Given the description of an element on the screen output the (x, y) to click on. 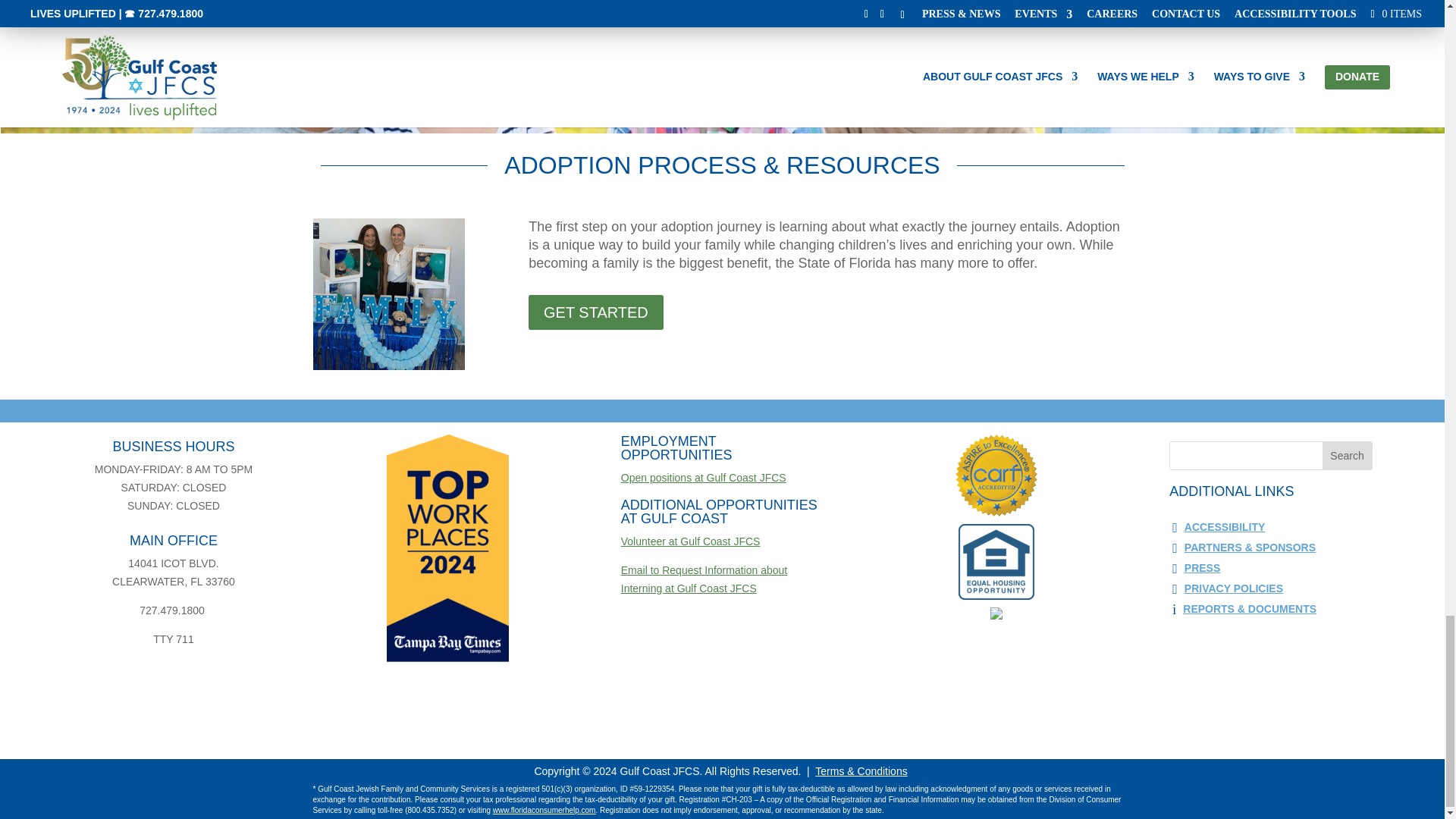
Search (1346, 455)
Search (1346, 455)
Bear with Heart Gallery staff (388, 294)
